Given the description of an element on the screen output the (x, y) to click on. 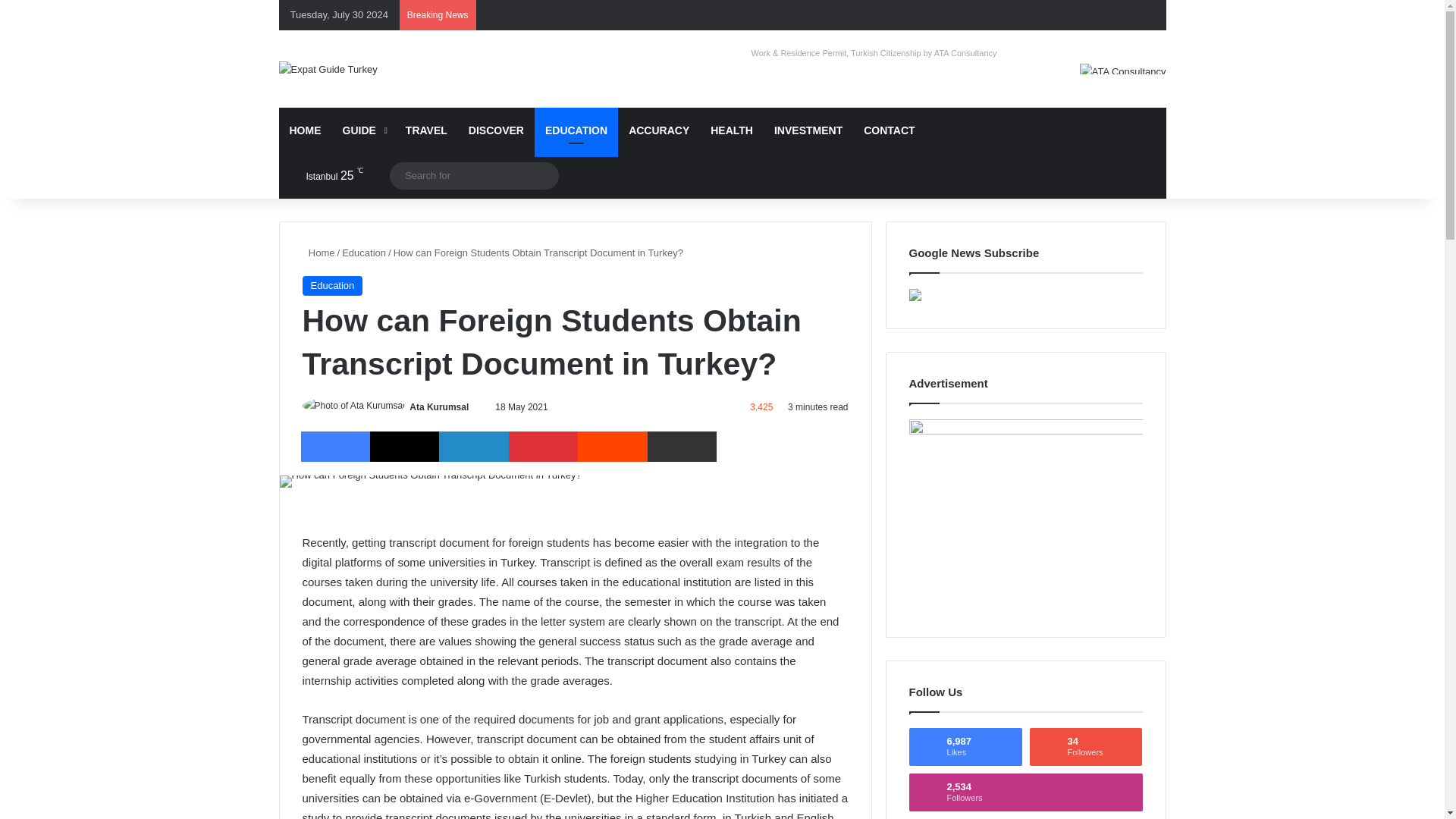
Search for (474, 175)
TRAVEL (426, 130)
CONTACT (888, 130)
Education (331, 285)
Facebook (334, 446)
Ata Kurumsal (438, 407)
Pinterest (543, 446)
Reddit (612, 446)
Ata Kurumsal (438, 407)
Clear Sky (321, 176)
HOME (305, 130)
ACCURACY (658, 130)
Share via Email (681, 446)
HEALTH (731, 130)
X (404, 446)
